Given the description of an element on the screen output the (x, y) to click on. 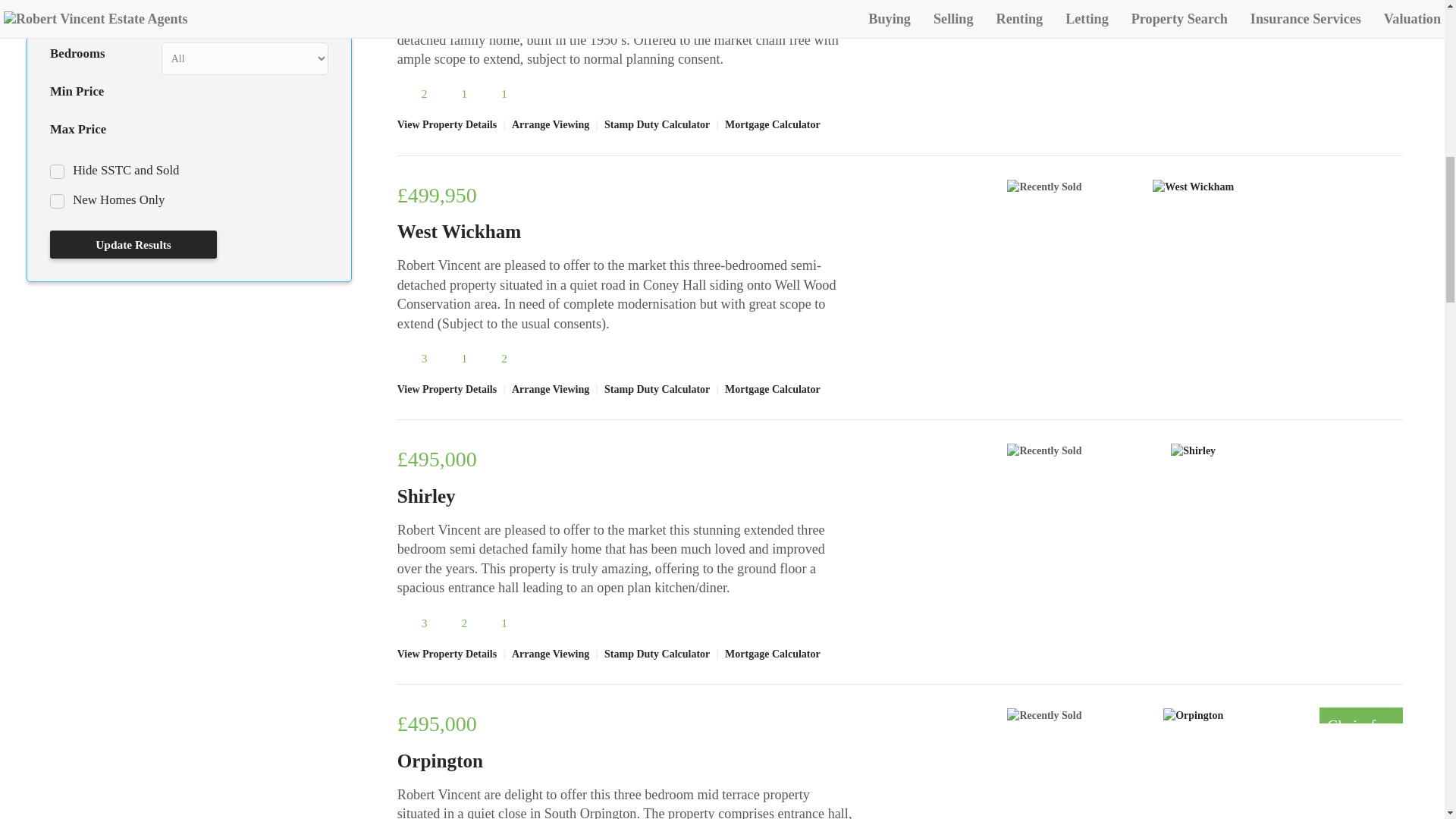
View Property Details (448, 124)
West Wickham (459, 231)
Update Results (132, 244)
Mortgage Calculator (772, 124)
Arrange Viewing (550, 124)
Stamp Duty Calculator (656, 124)
Update Results (132, 244)
